Given the description of an element on the screen output the (x, y) to click on. 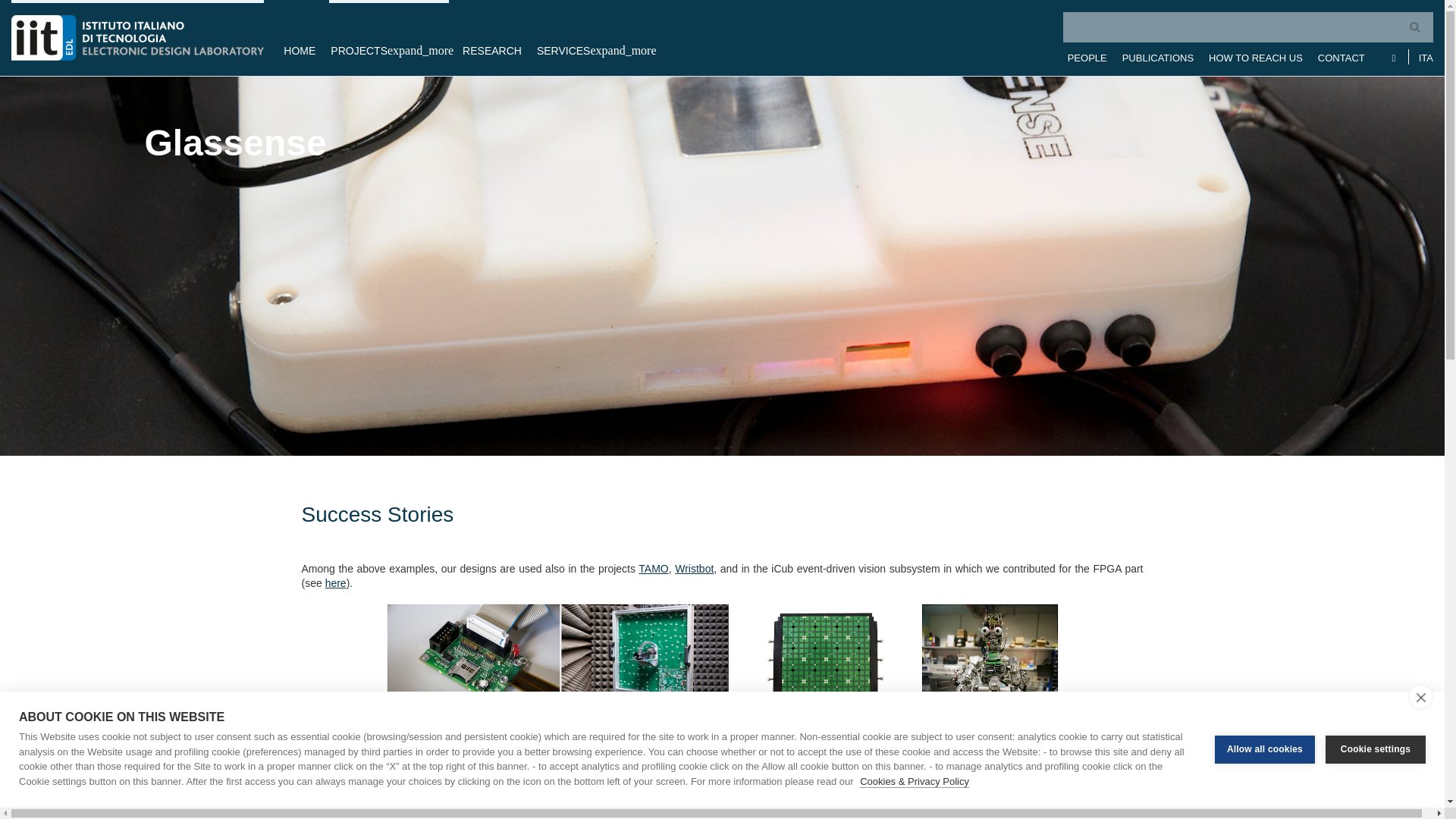
HOME (299, 38)
here (335, 582)
ITA (1421, 56)
RESEARCH (491, 38)
CONTACT (1341, 56)
Wristbot (694, 568)
PEOPLE (1087, 56)
PUBLICATIONS (1158, 56)
TAMO (653, 568)
HOW TO REACH US (1255, 56)
